Given the description of an element on the screen output the (x, y) to click on. 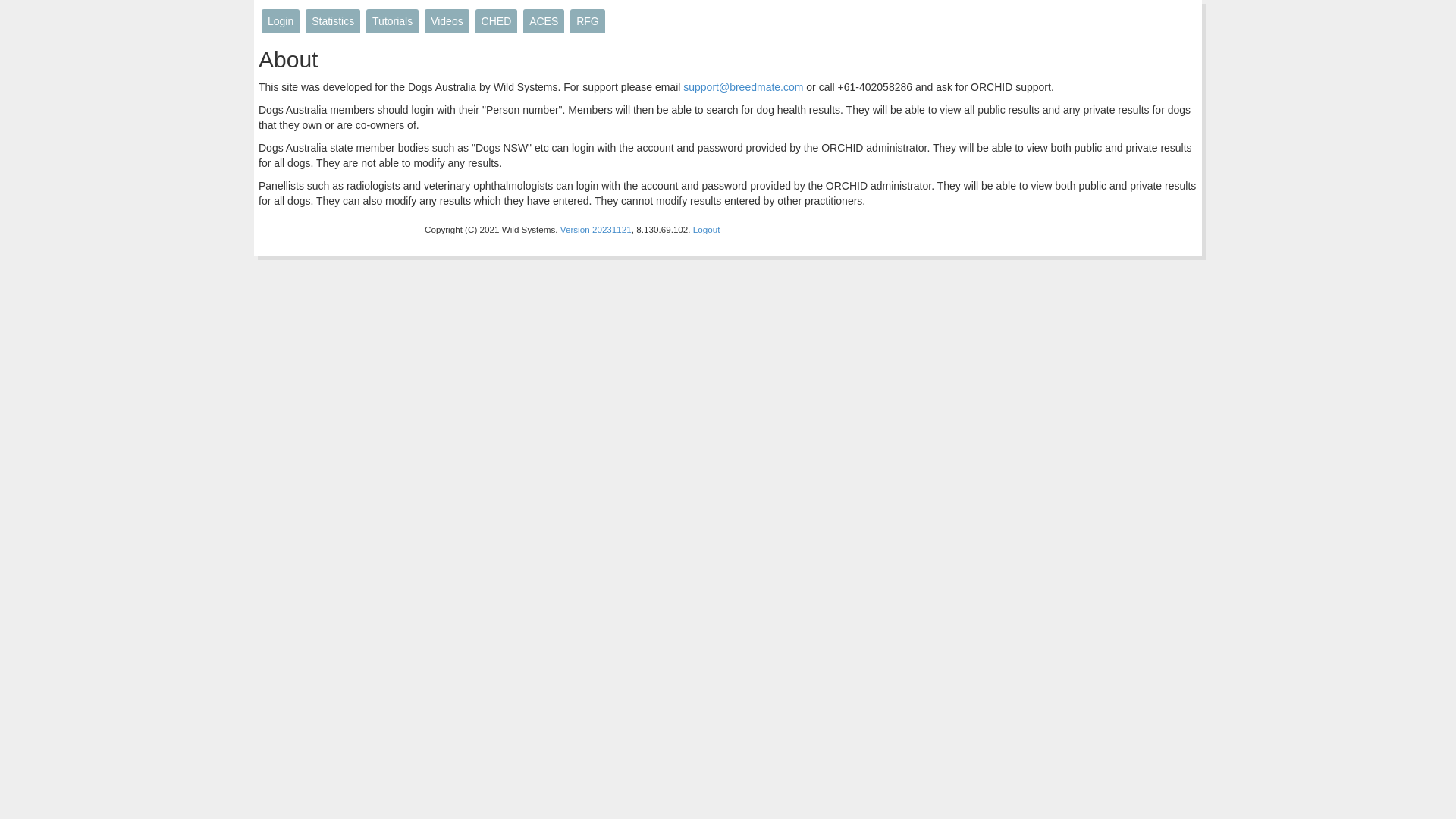
ACES Element type: text (543, 21)
RFG Element type: text (587, 21)
CHED Element type: text (496, 21)
support@breedmate.com Element type: text (743, 87)
Login Element type: text (280, 21)
Version 20231121 Element type: text (595, 229)
Statistics Element type: text (332, 21)
Tutorials Element type: text (392, 21)
Logout Element type: text (706, 229)
Videos Element type: text (446, 21)
